Given the description of an element on the screen output the (x, y) to click on. 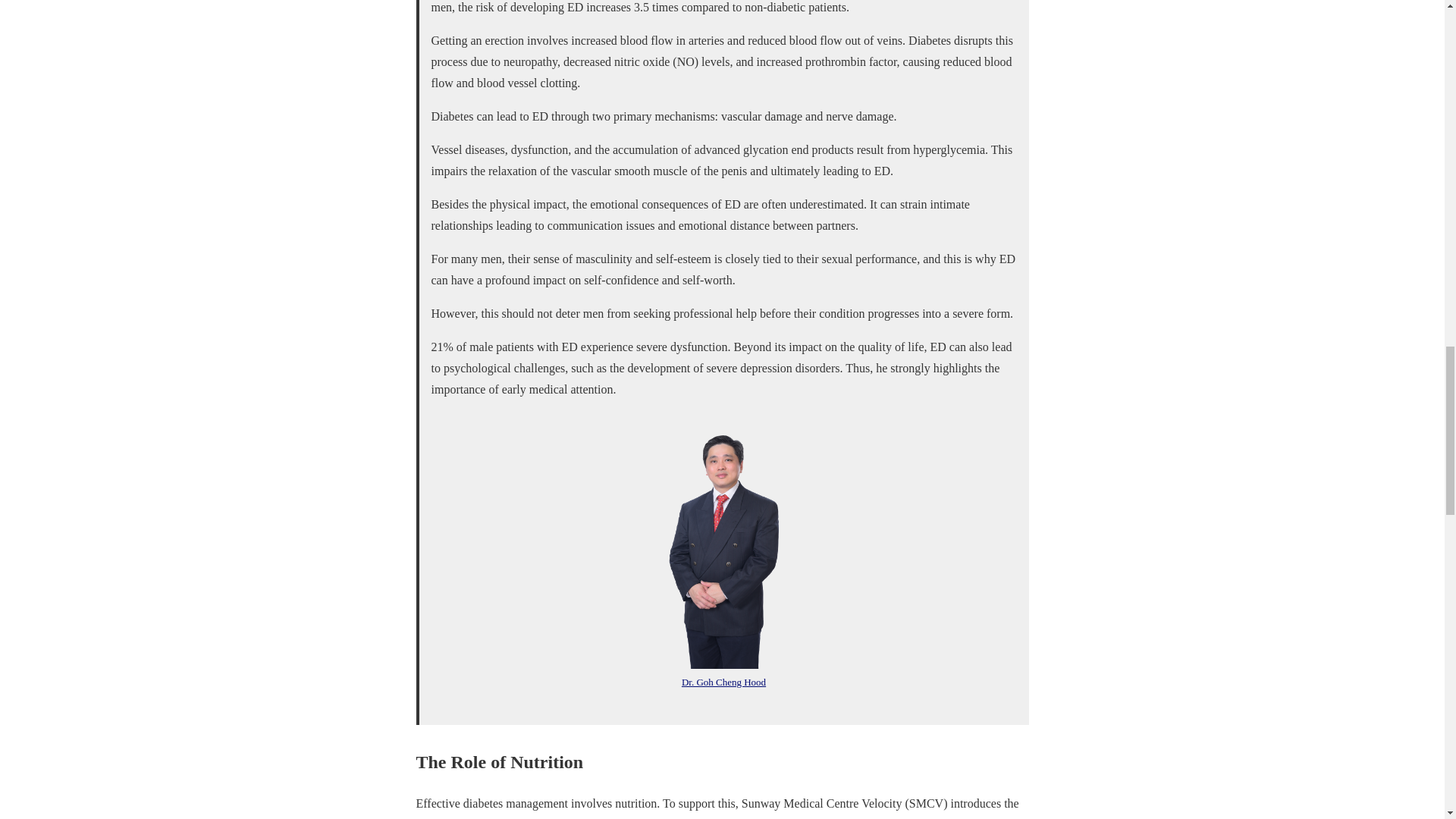
Dr. Goh Cheng Hood (723, 681)
